Given the description of an element on the screen output the (x, y) to click on. 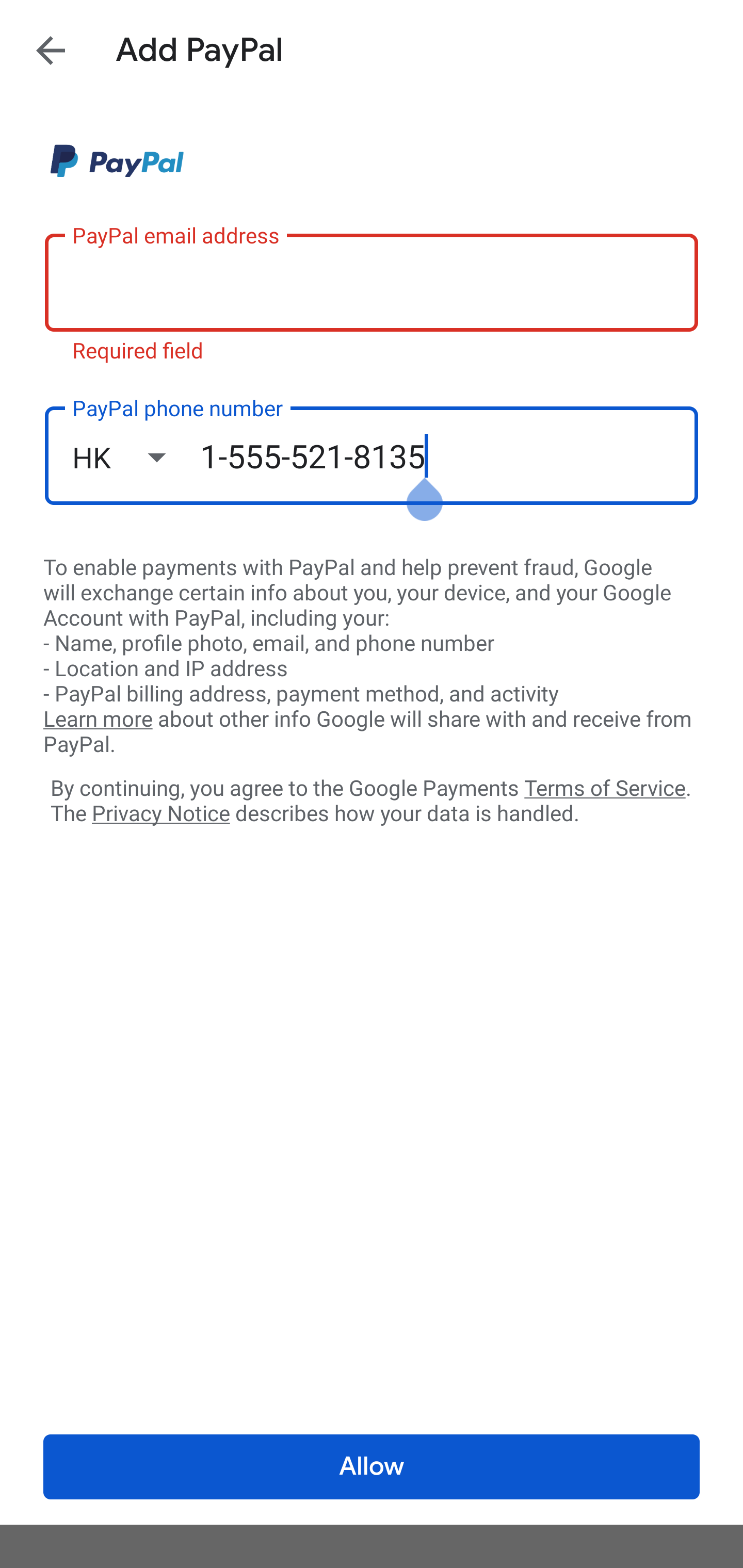
Navigate up (50, 50)
HK (135, 456)
Learn more (97, 719)
Terms of Service (604, 787)
Privacy Notice (160, 814)
Allow (371, 1466)
